Given the description of an element on the screen output the (x, y) to click on. 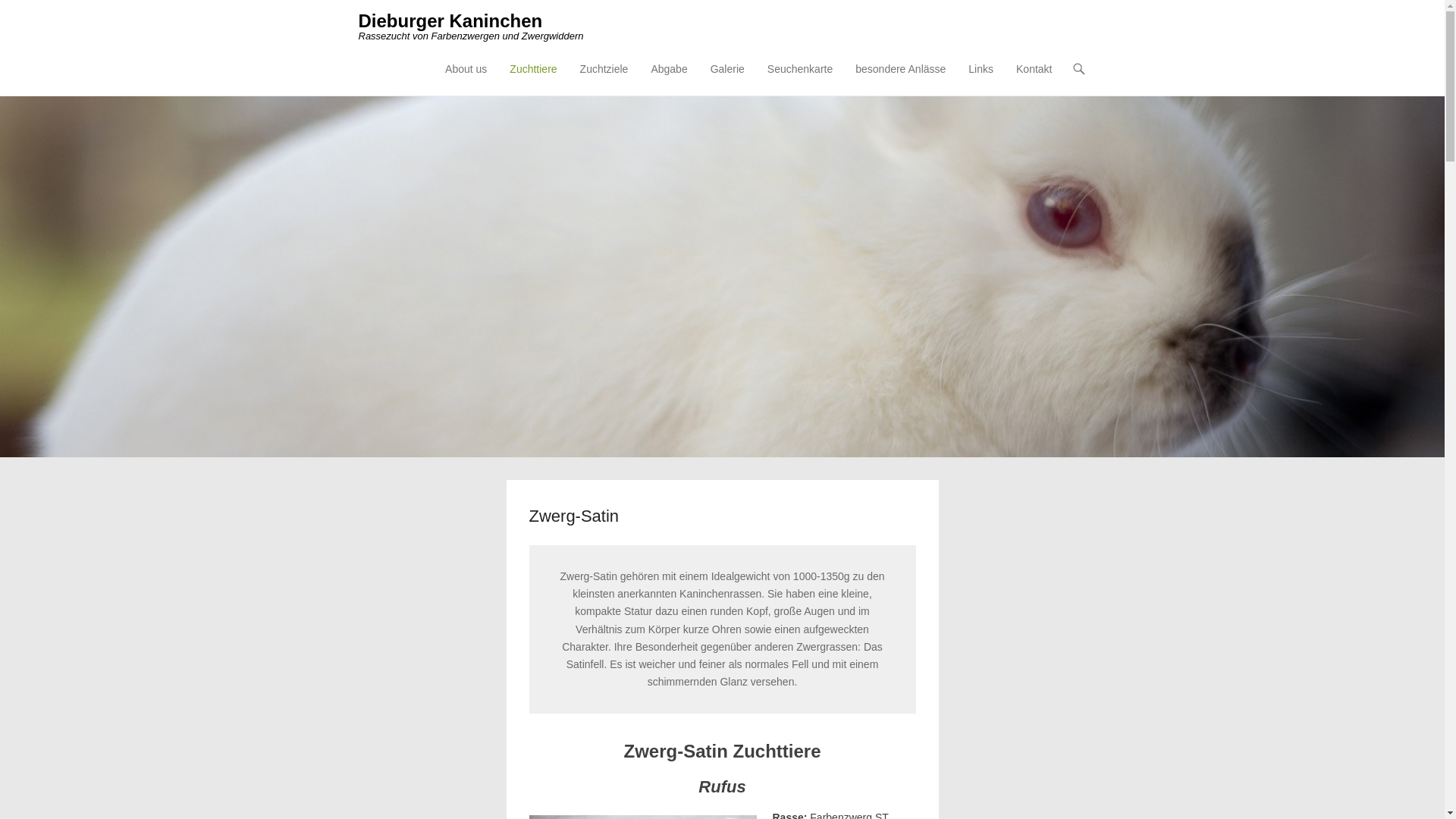
Zum Inhalt springen Element type: text (484, 69)
Galerie Element type: text (727, 78)
Dieburger Kaninchen Element type: text (449, 20)
Links Element type: text (980, 78)
Seuchenkarte Element type: text (799, 78)
Abgabe Element type: text (668, 78)
Zuchtziele Element type: text (604, 78)
Zuchttiere Element type: text (533, 78)
Kontakt Element type: text (1033, 78)
About us Element type: text (465, 78)
